Given the description of an element on the screen output the (x, y) to click on. 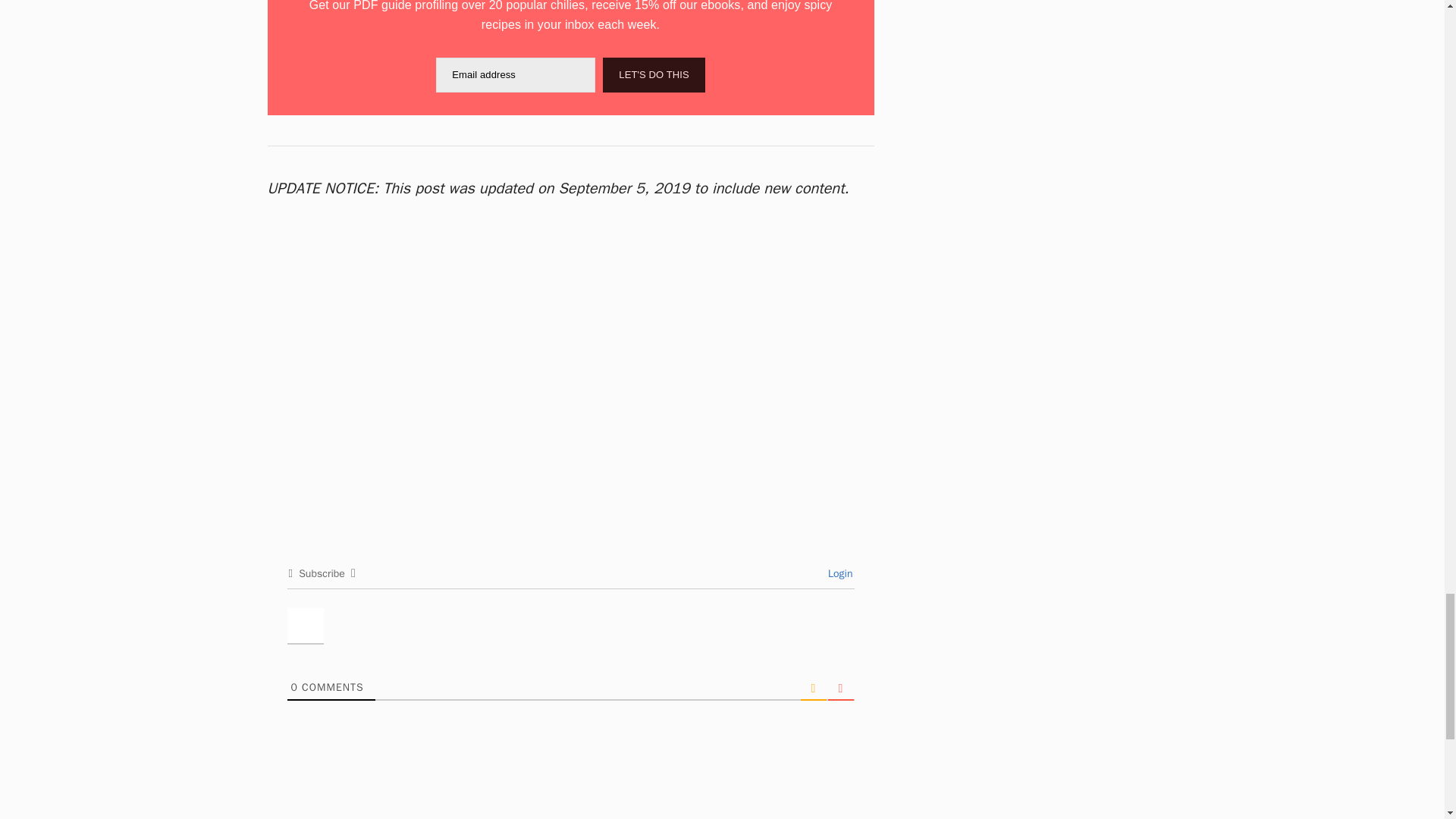
Login (838, 573)
LET'S DO THIS (653, 74)
